Given the description of an element on the screen output the (x, y) to click on. 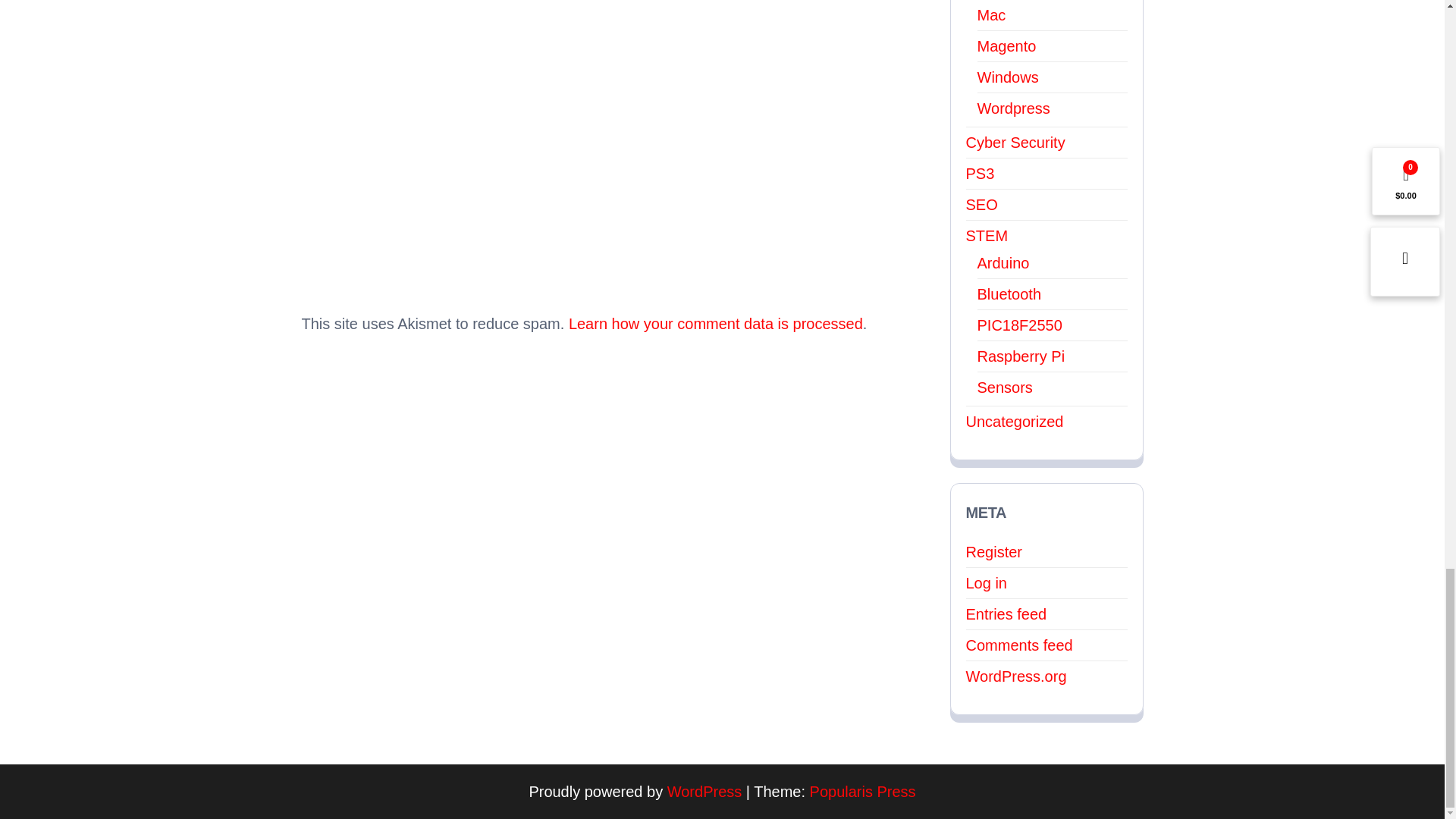
Learn how your comment data is processed (716, 323)
